Given the description of an element on the screen output the (x, y) to click on. 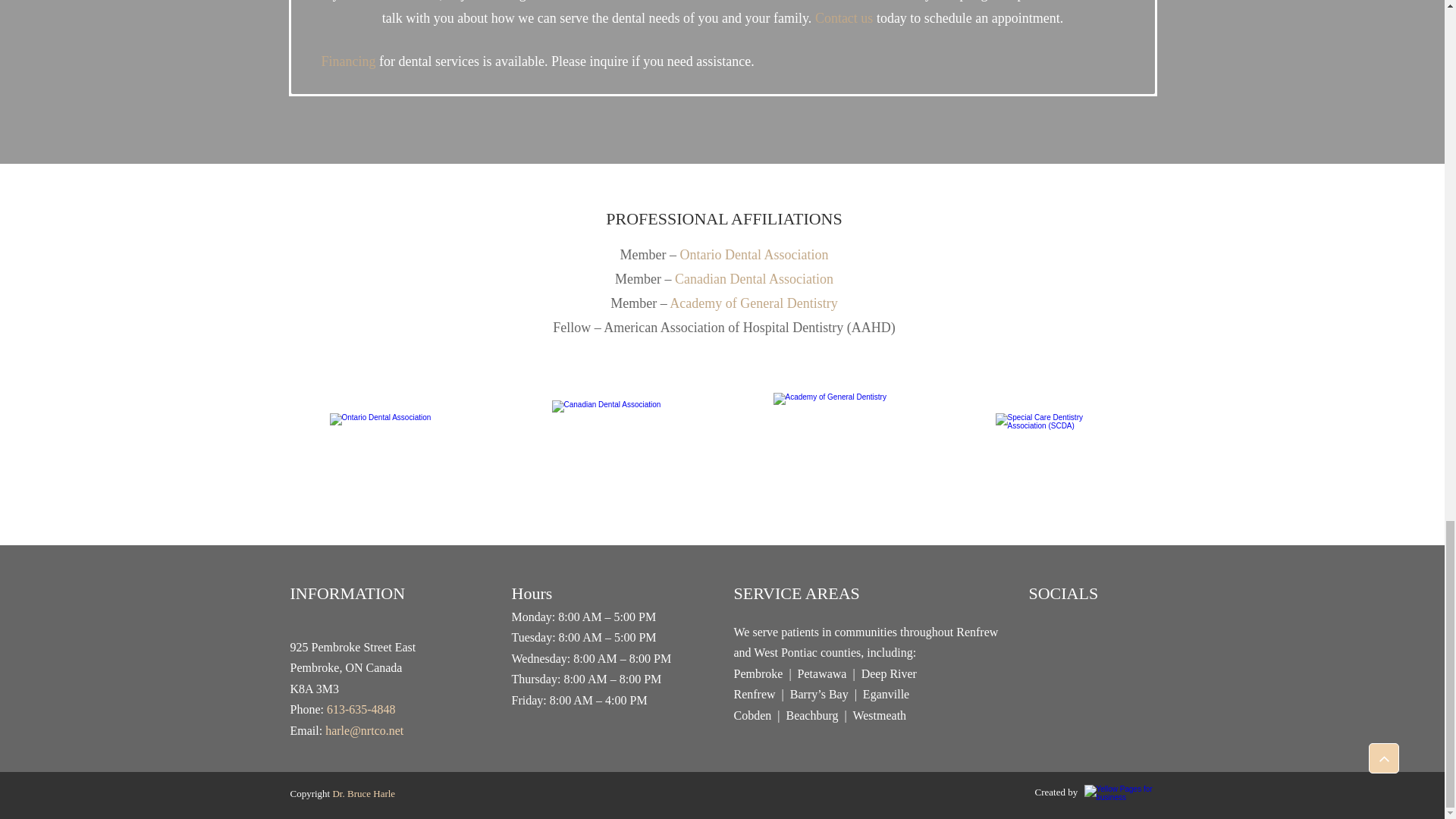
Dr. Bruce Harle (362, 793)
Financing (348, 61)
Academy of General Dentistry (753, 303)
Canadian Dental Association (753, 278)
Ontario Dental Association (753, 254)
Contact us (844, 17)
